Given the description of an element on the screen output the (x, y) to click on. 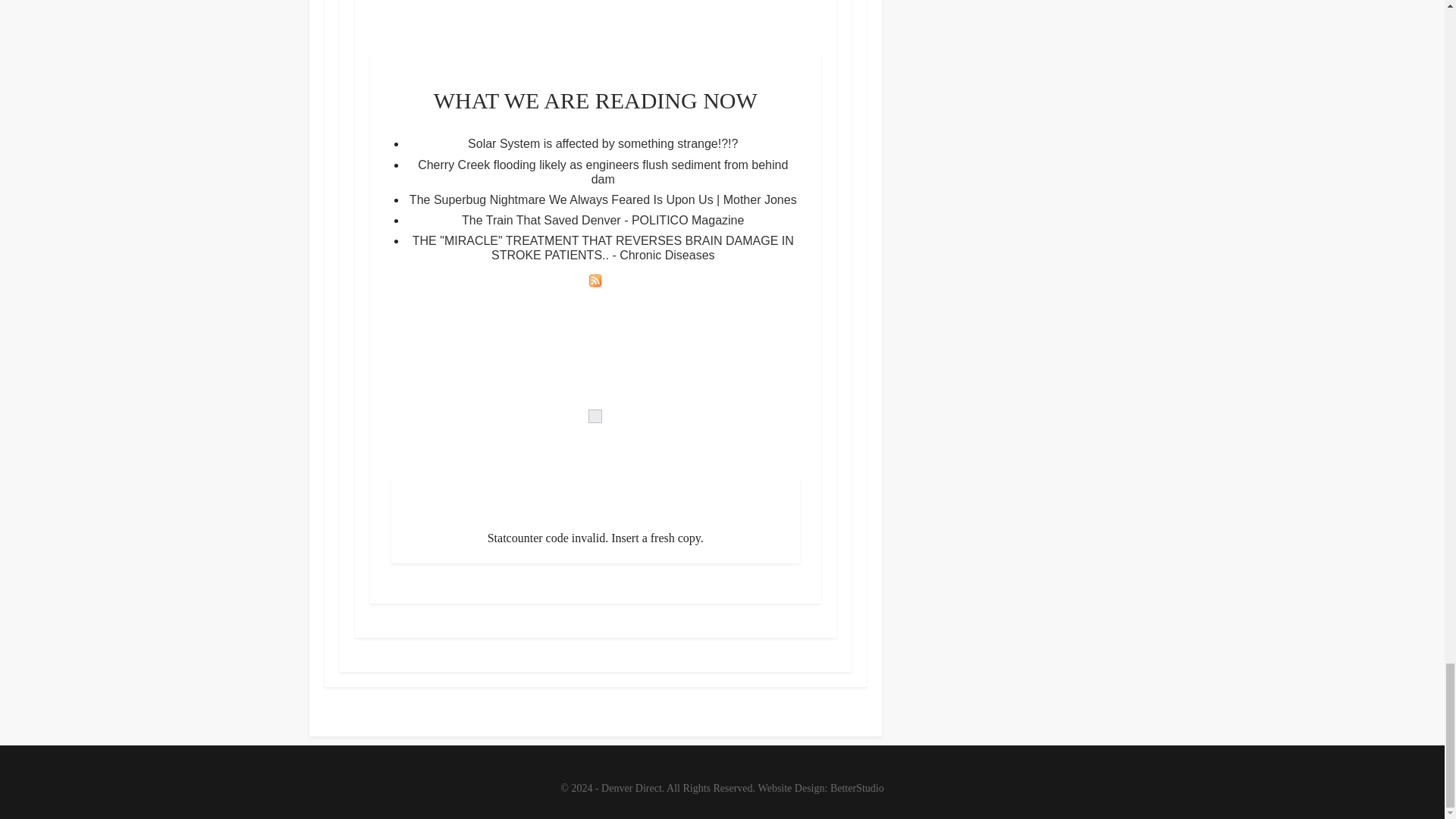
Solar System is affected by something strange!?!? (602, 143)
The Train That Saved Denver - POLITICO Magazine (602, 219)
BetterStudio (856, 787)
